Given the description of an element on the screen output the (x, y) to click on. 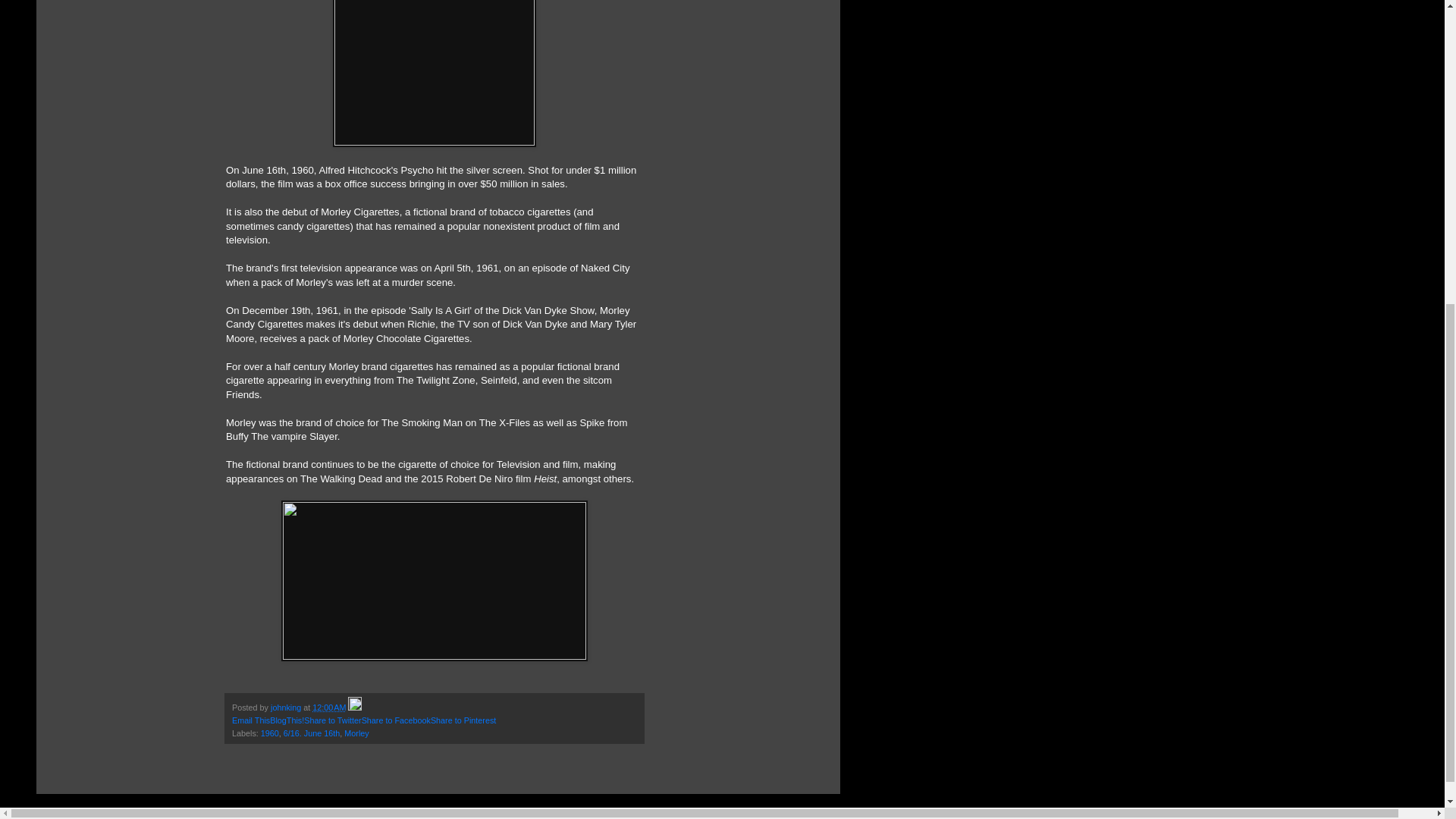
Share to Facebook (395, 719)
Email This (250, 719)
permanent link (329, 706)
Edit Post (354, 706)
BlogThis! (286, 719)
Share to Twitter (332, 719)
Share to Facebook (395, 719)
1960 (269, 732)
Share to Pinterest (463, 719)
Share to Twitter (332, 719)
author profile (286, 706)
johnking (286, 706)
Share to Pinterest (463, 719)
Morley (355, 732)
